Given the description of an element on the screen output the (x, y) to click on. 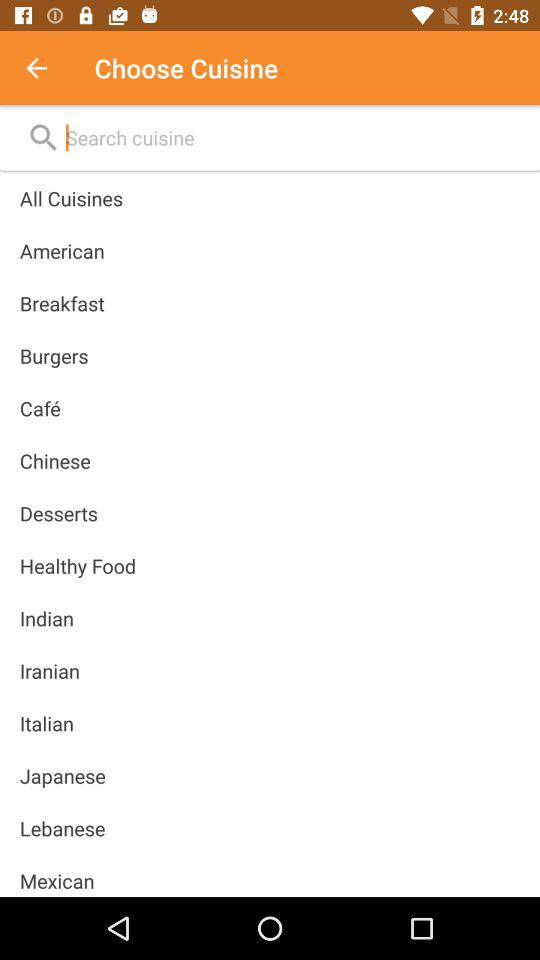
turn off desserts (58, 513)
